Given the description of an element on the screen output the (x, y) to click on. 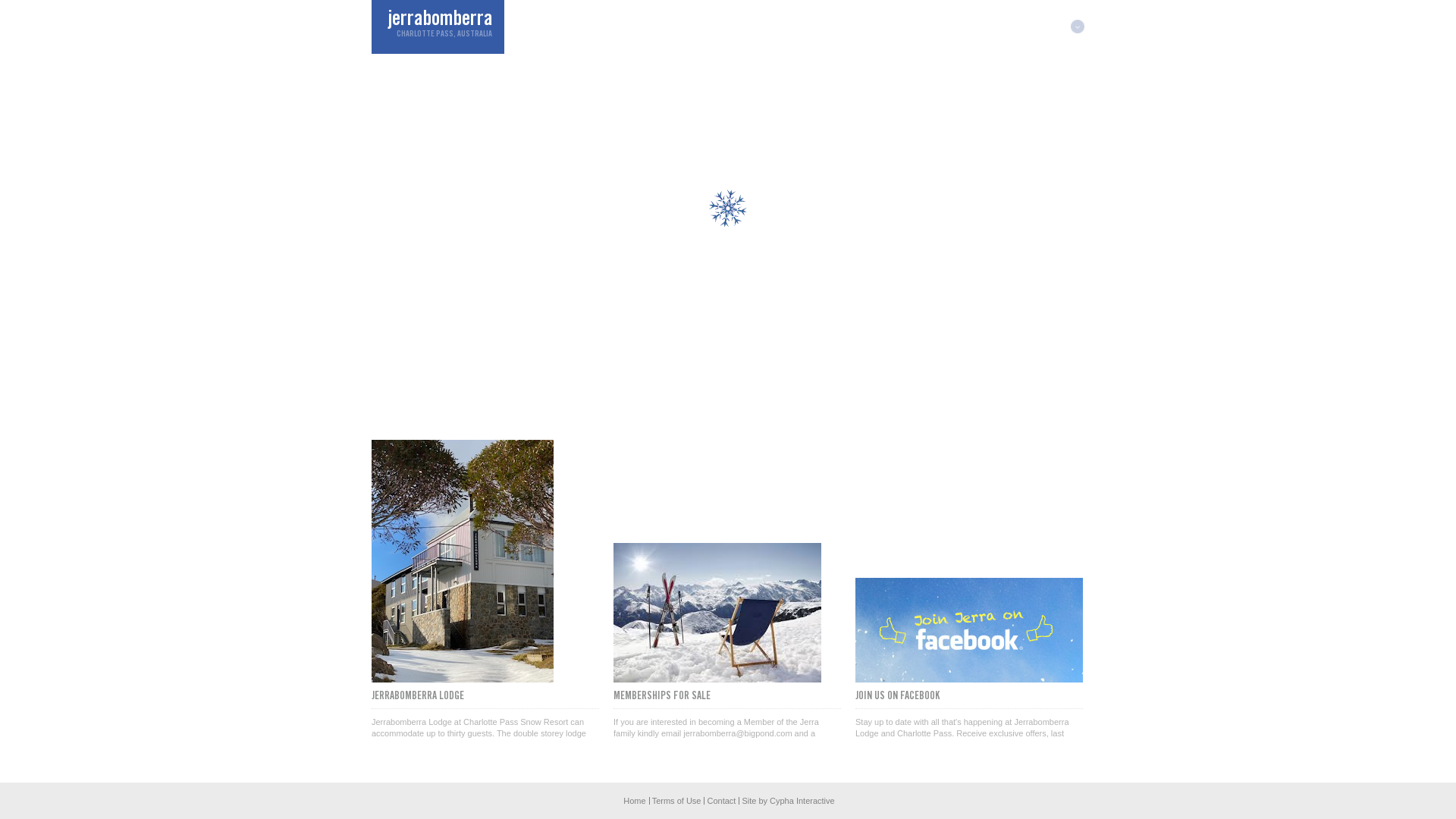
Contact Element type: text (720, 800)
GETTING THERE Element type: text (904, 26)
Site by Cypha Interactive Element type: text (787, 800)
BOOKING Element type: text (836, 26)
LOGIN Element type: text (1050, 25)
THE LODGE Element type: text (545, 26)
NEWS & EVENTS Element type: text (713, 26)
MEMBERSHIP Element type: text (981, 26)
GALLERY Element type: text (781, 26)
RATES & PACKAGES Element type: text (624, 26)
Terms of Use Element type: text (676, 800)
jerrabomberra
CHARLOTTE PASS, AUSTRALIA Element type: text (437, 26)
Home Element type: text (634, 800)
